Given the description of an element on the screen output the (x, y) to click on. 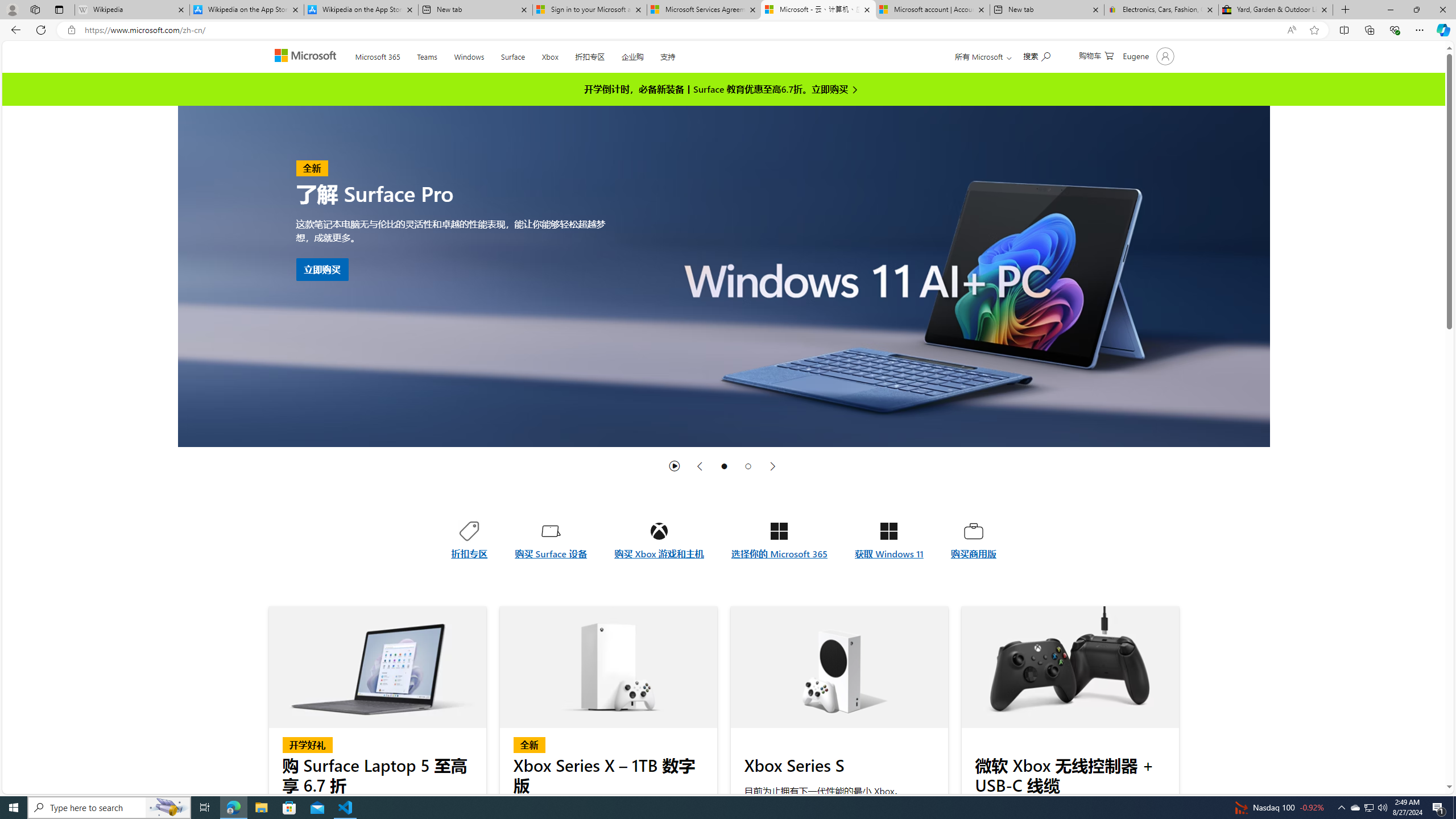
Microsoft Services Agreement (703, 9)
Wikipedia - Sleeping (132, 9)
Electronics, Cars, Fashion, Collectibles & More | eBay (1161, 9)
Windows (469, 54)
Pause (674, 466)
Yard, Garden & Outdoor Living (1276, 9)
Xbox (549, 54)
